Given the description of an element on the screen output the (x, y) to click on. 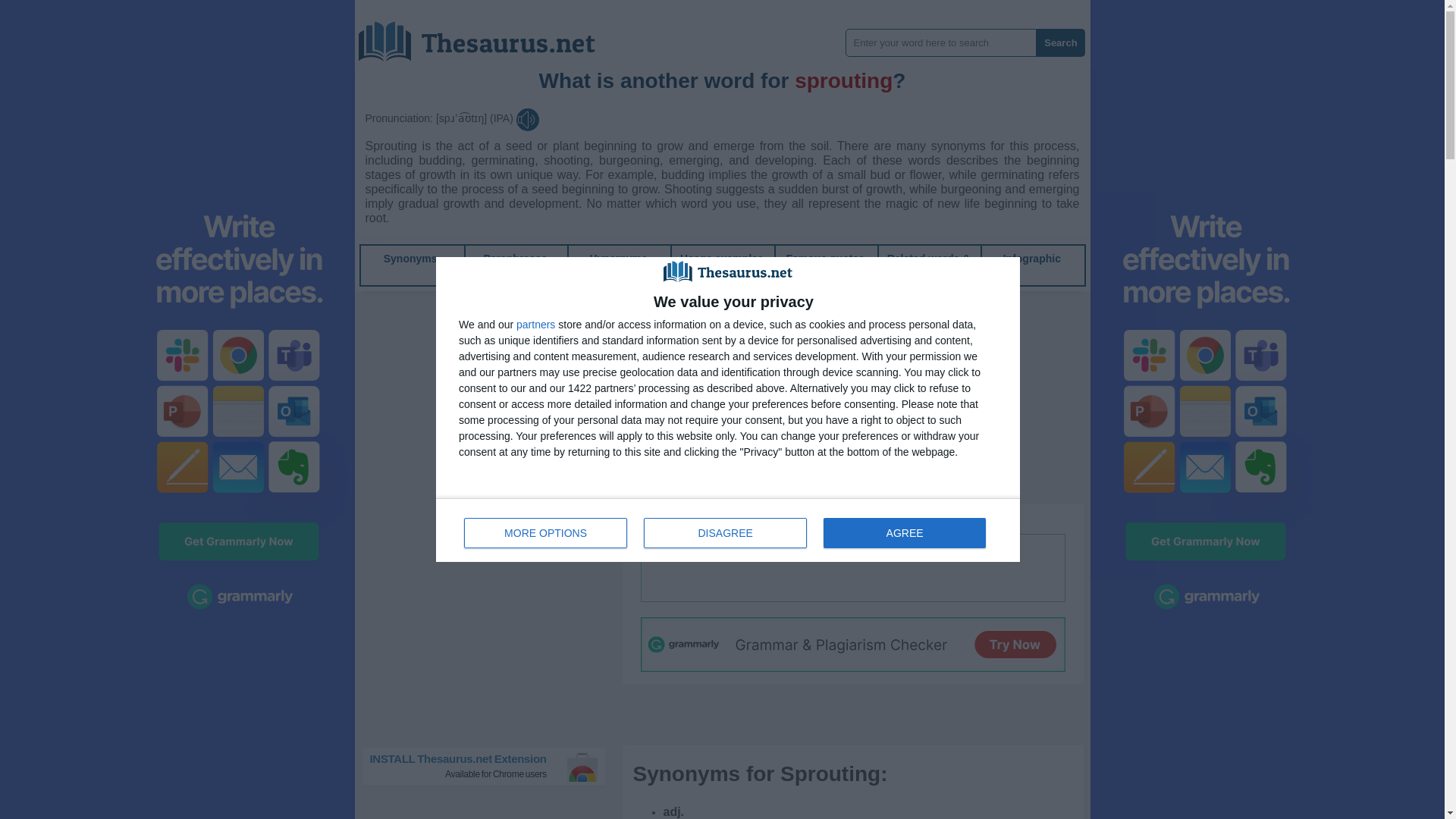
Hypernyms (489, 765)
Famous quotes (618, 258)
Hypernyms (825, 258)
Usage examples (618, 258)
Infographic (720, 258)
AGREE (1032, 258)
Paraphrases (904, 532)
click here (727, 529)
MORE OPTIONS (515, 258)
Infographic (875, 517)
Synonyms (545, 532)
Thesaurus.net (1032, 258)
DISAGREE (411, 258)
